Given the description of an element on the screen output the (x, y) to click on. 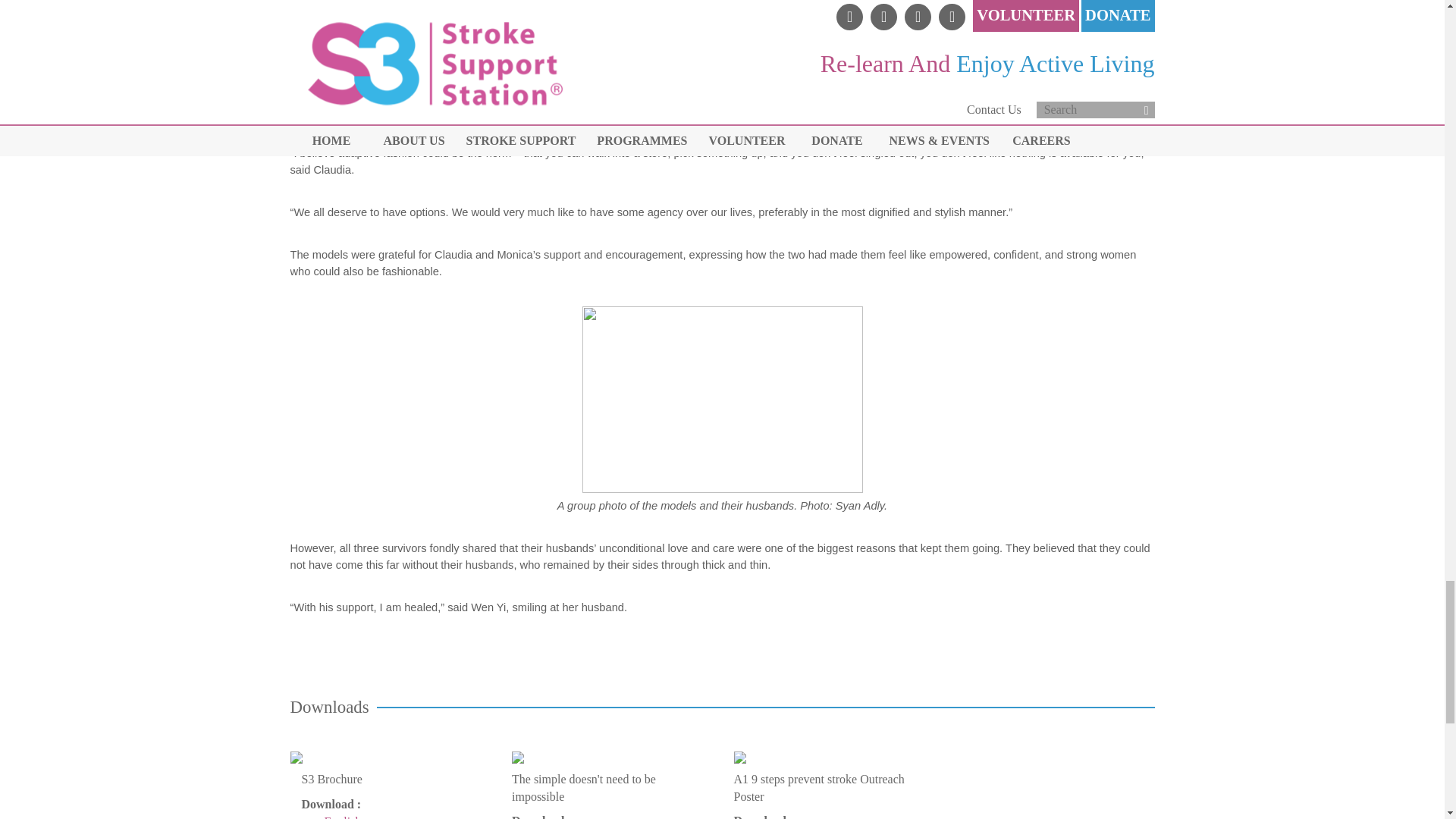
English (342, 816)
